Given the description of an element on the screen output the (x, y) to click on. 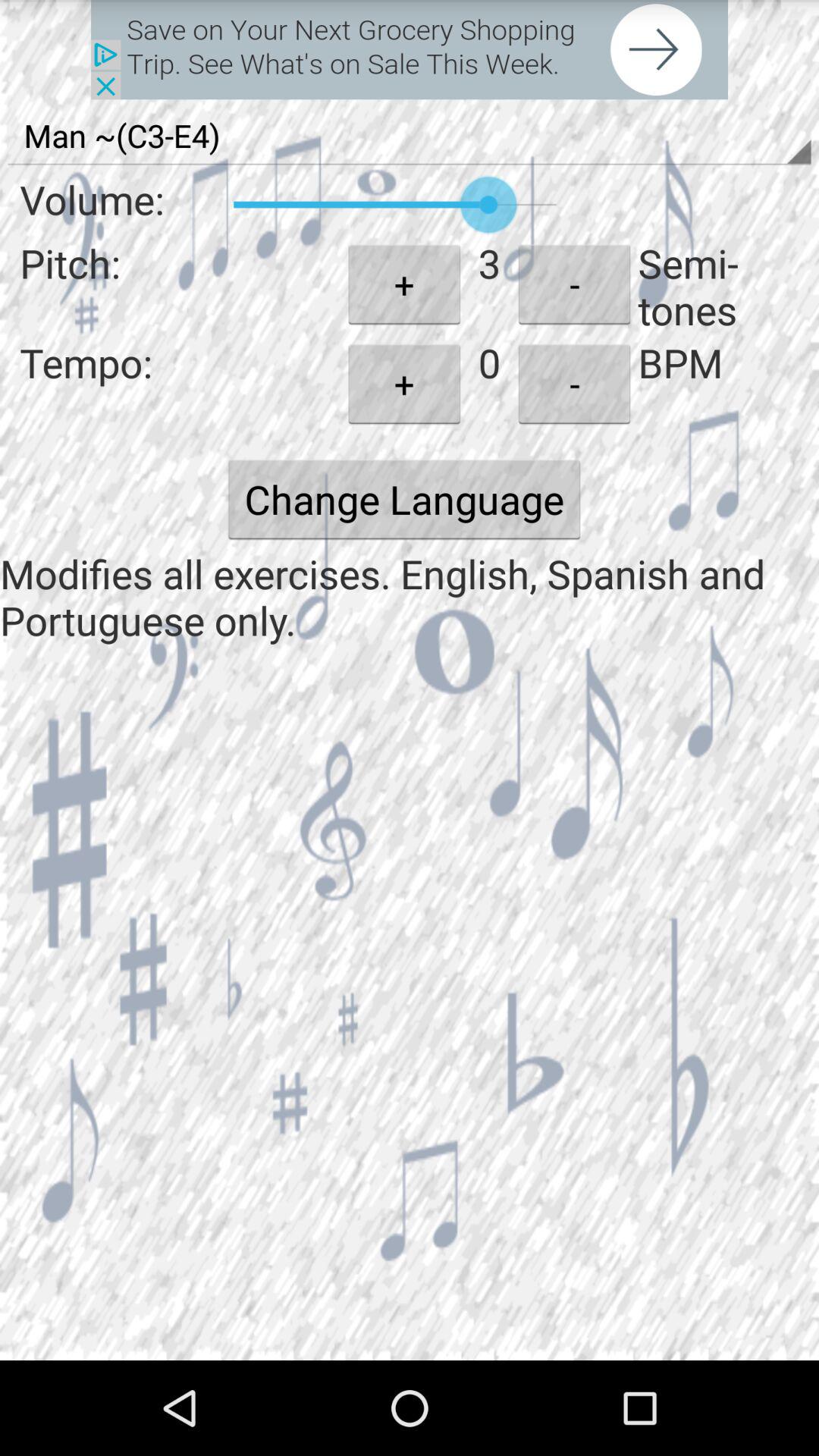
open an advertisements (409, 49)
